Given the description of an element on the screen output the (x, y) to click on. 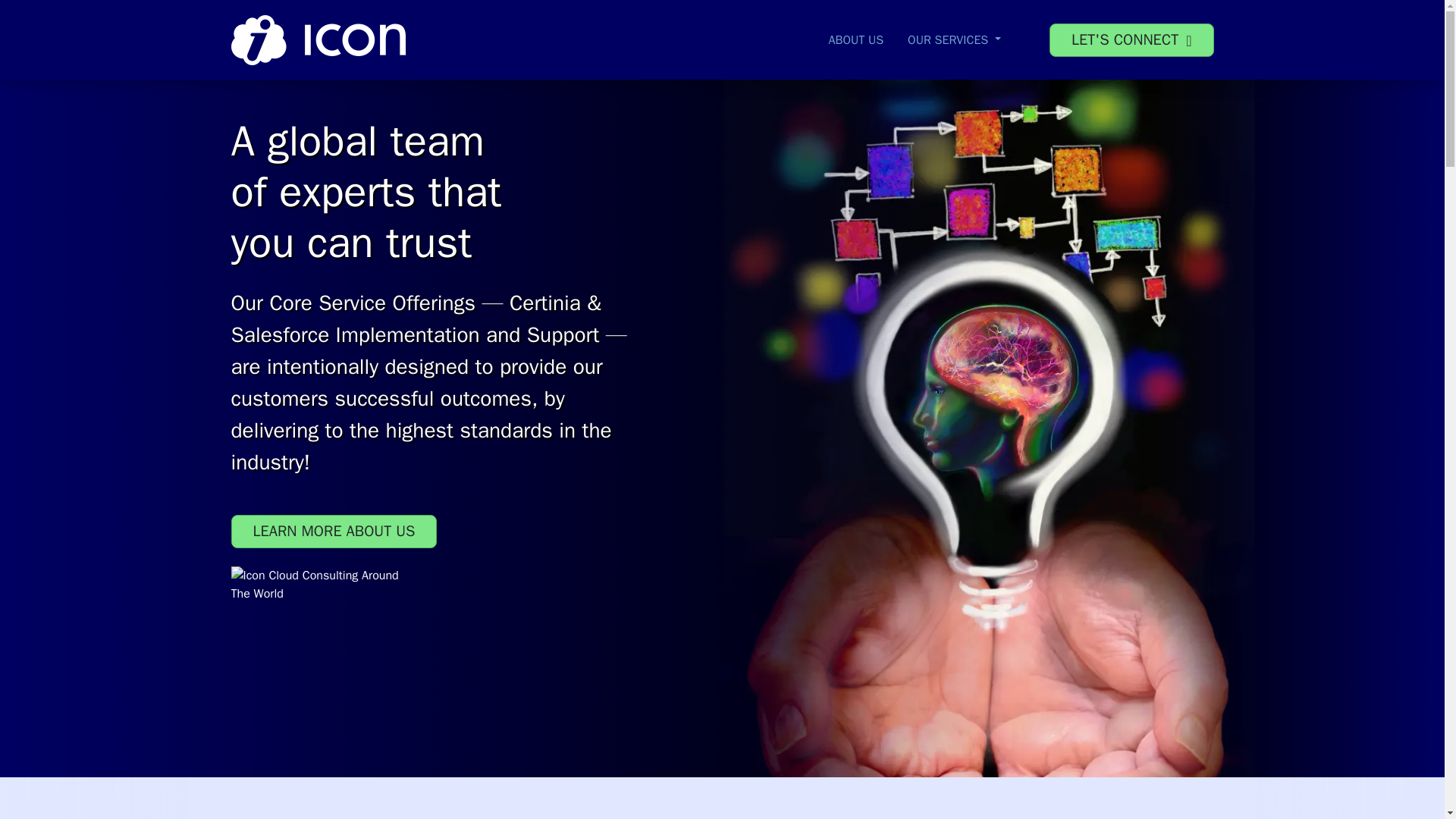
OUR SERVICES (954, 39)
ABOUT US (856, 39)
LET'S CONNECT (1130, 39)
LEARN MORE ABOUT US (333, 531)
